Given the description of an element on the screen output the (x, y) to click on. 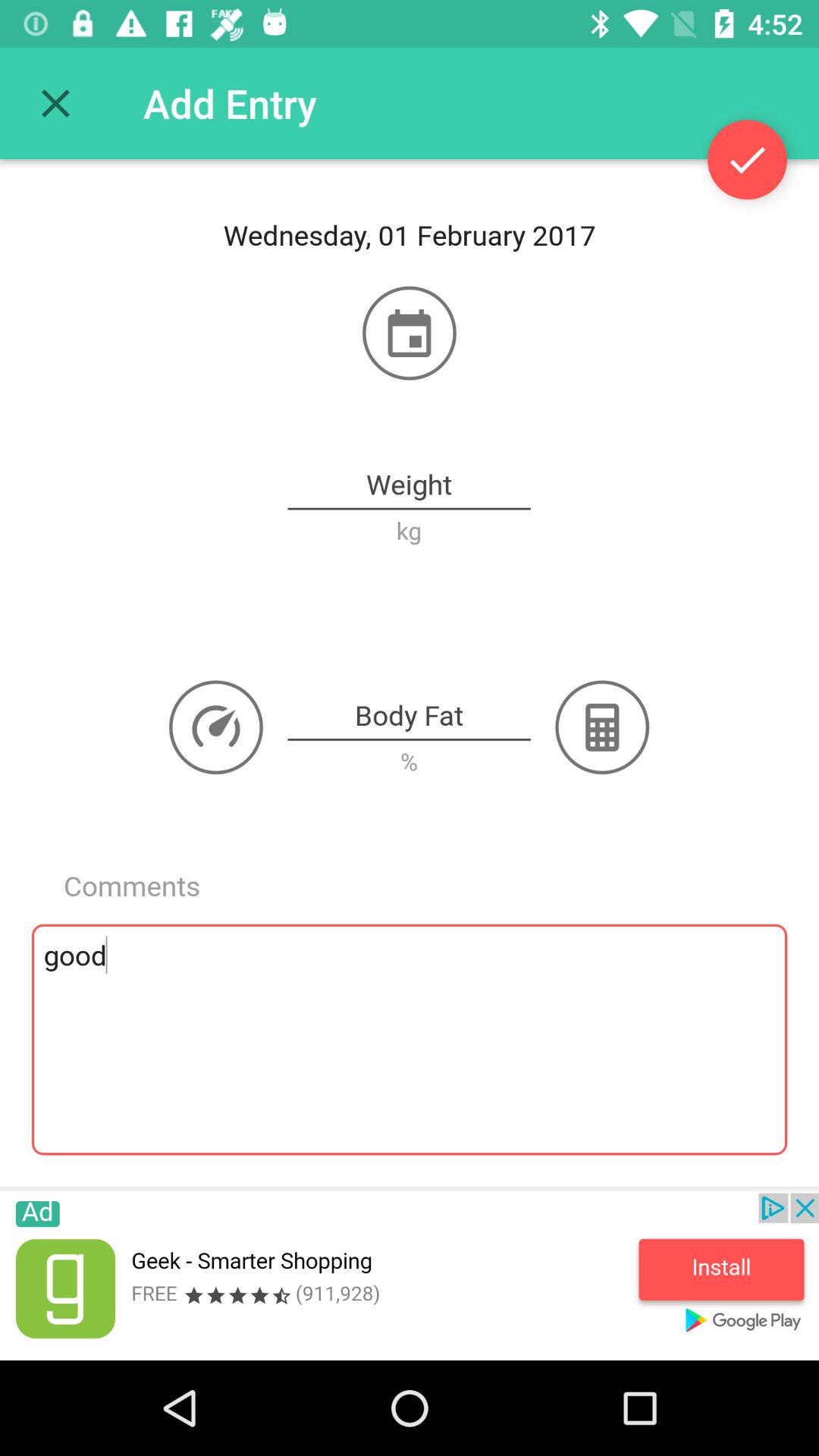
exit (55, 103)
